Given the description of an element on the screen output the (x, y) to click on. 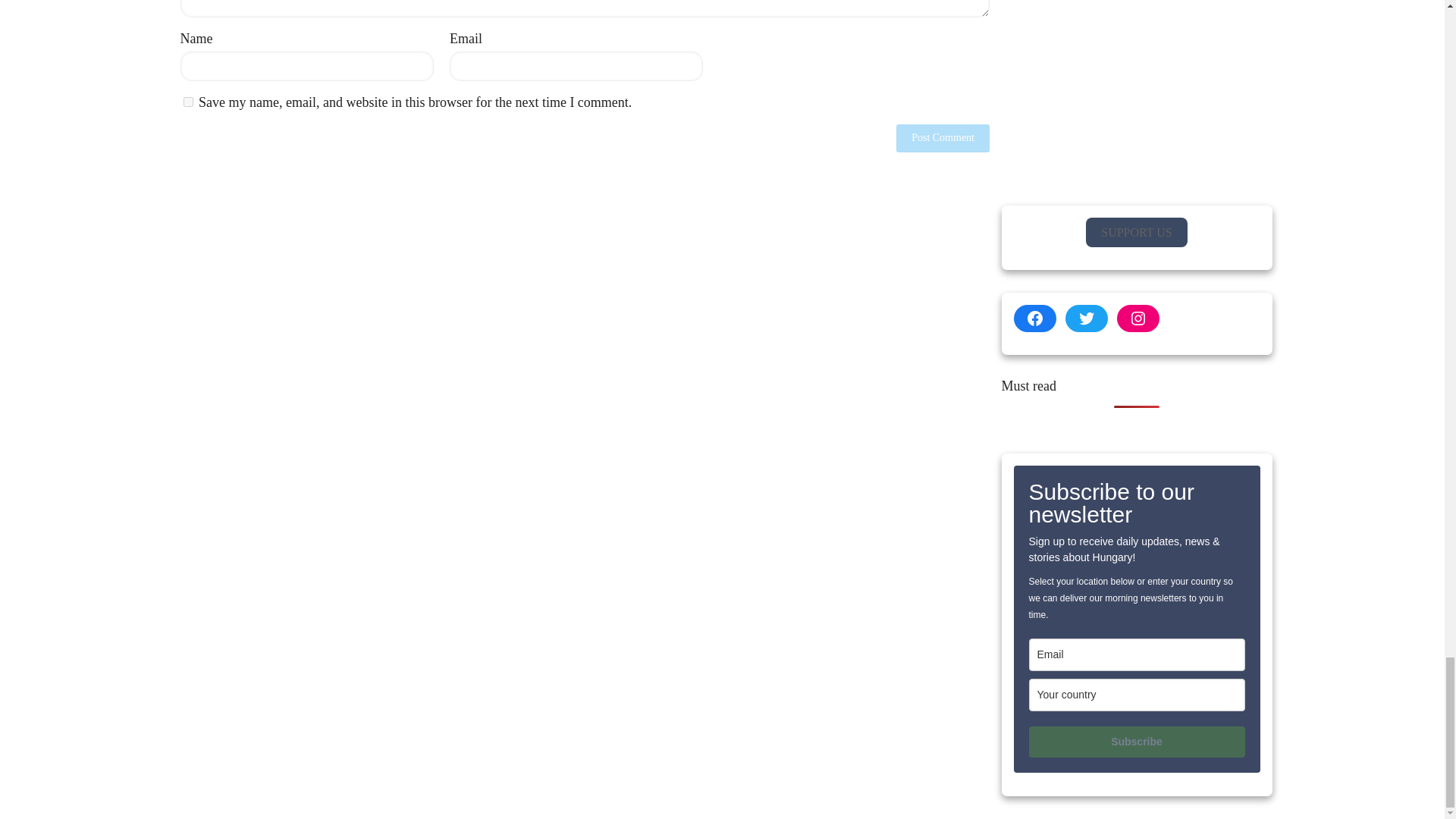
yes (188, 102)
Post Comment (943, 138)
